Given the description of an element on the screen output the (x, y) to click on. 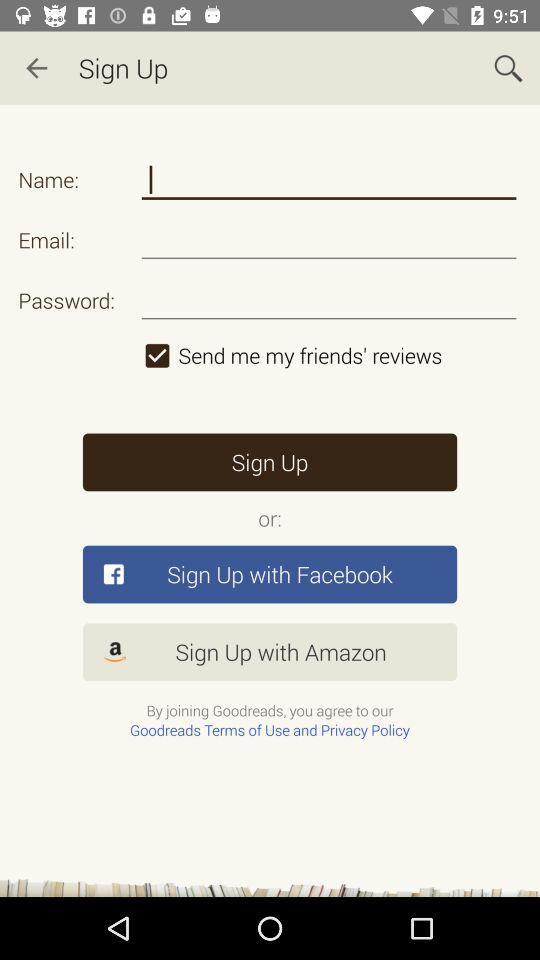
select the item below the password: (328, 355)
